Given the description of an element on the screen output the (x, y) to click on. 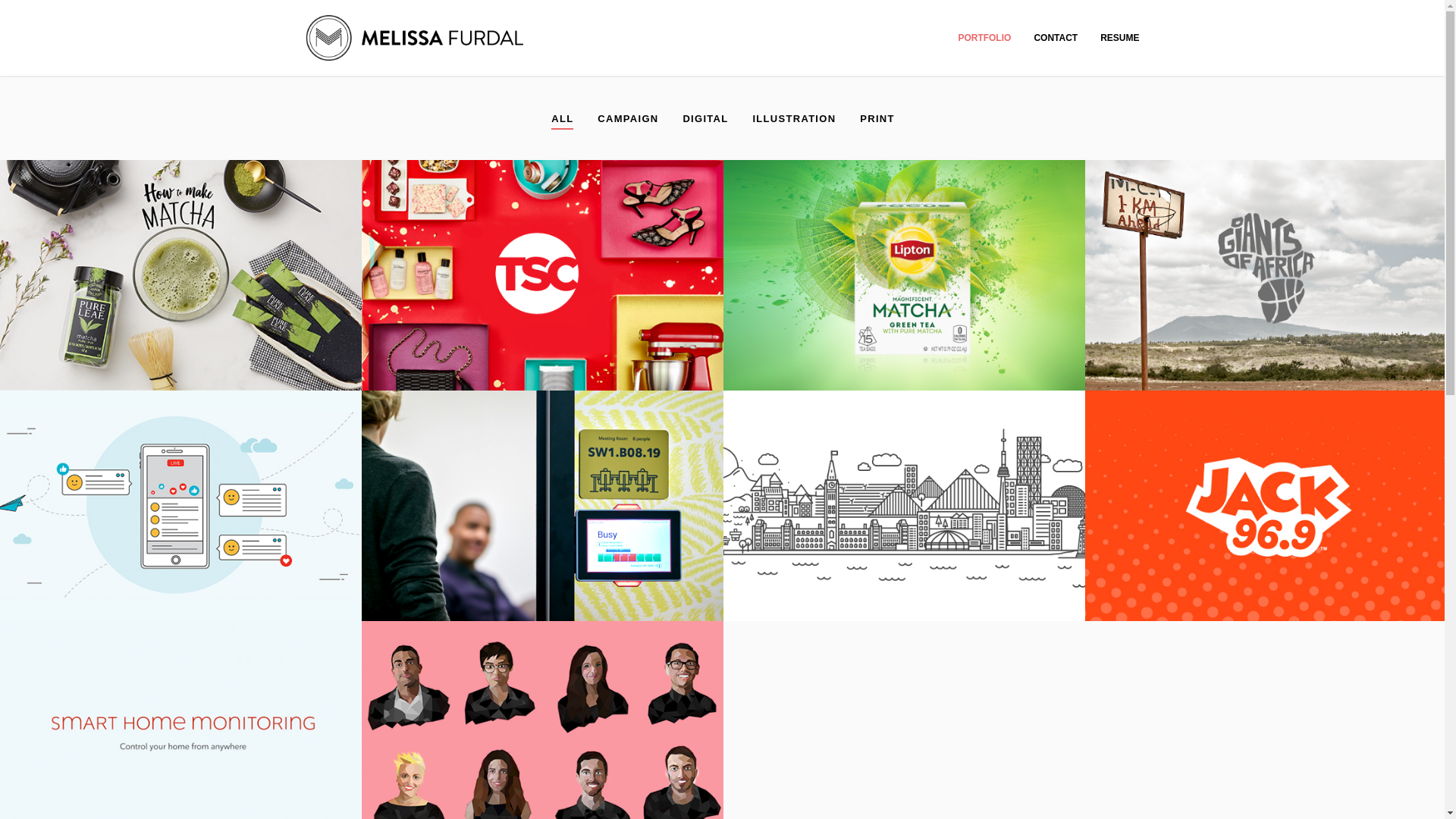
Illustration (793, 120)
CAMPAIGN (627, 120)
DIGITAL (705, 120)
Digital (705, 120)
PRINT (877, 120)
ALL (562, 120)
ILLUSTRATION (793, 120)
Campaign (627, 120)
Print (877, 120)
